Given the description of an element on the screen output the (x, y) to click on. 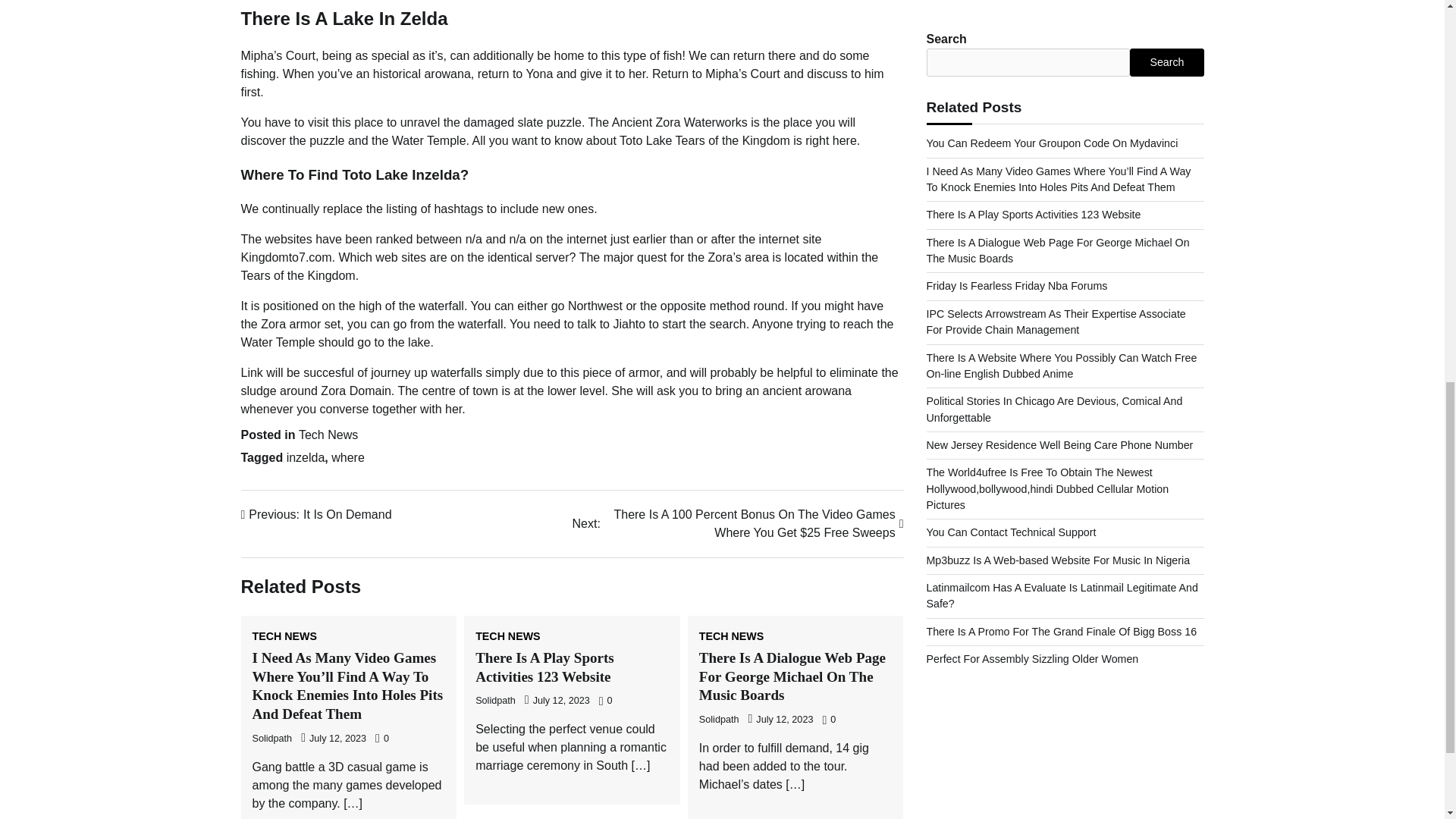
Mp3buzz Is A Web-based Website For Music In Nigeria (1058, 6)
There Is A Play Sports Activities 123 Website (545, 667)
Perfect For Assembly Sizzling Older Women (1032, 104)
where (348, 457)
Solidpath (718, 719)
inzelda (305, 457)
Solidpath (316, 515)
There Is A Promo For The Grand Finale Of Bigg Boss 16 (271, 738)
Tech News (1061, 77)
TECH NEWS (328, 434)
TECH NEWS (283, 635)
TECH NEWS (730, 635)
Solidpath (508, 635)
